Given the description of an element on the screen output the (x, y) to click on. 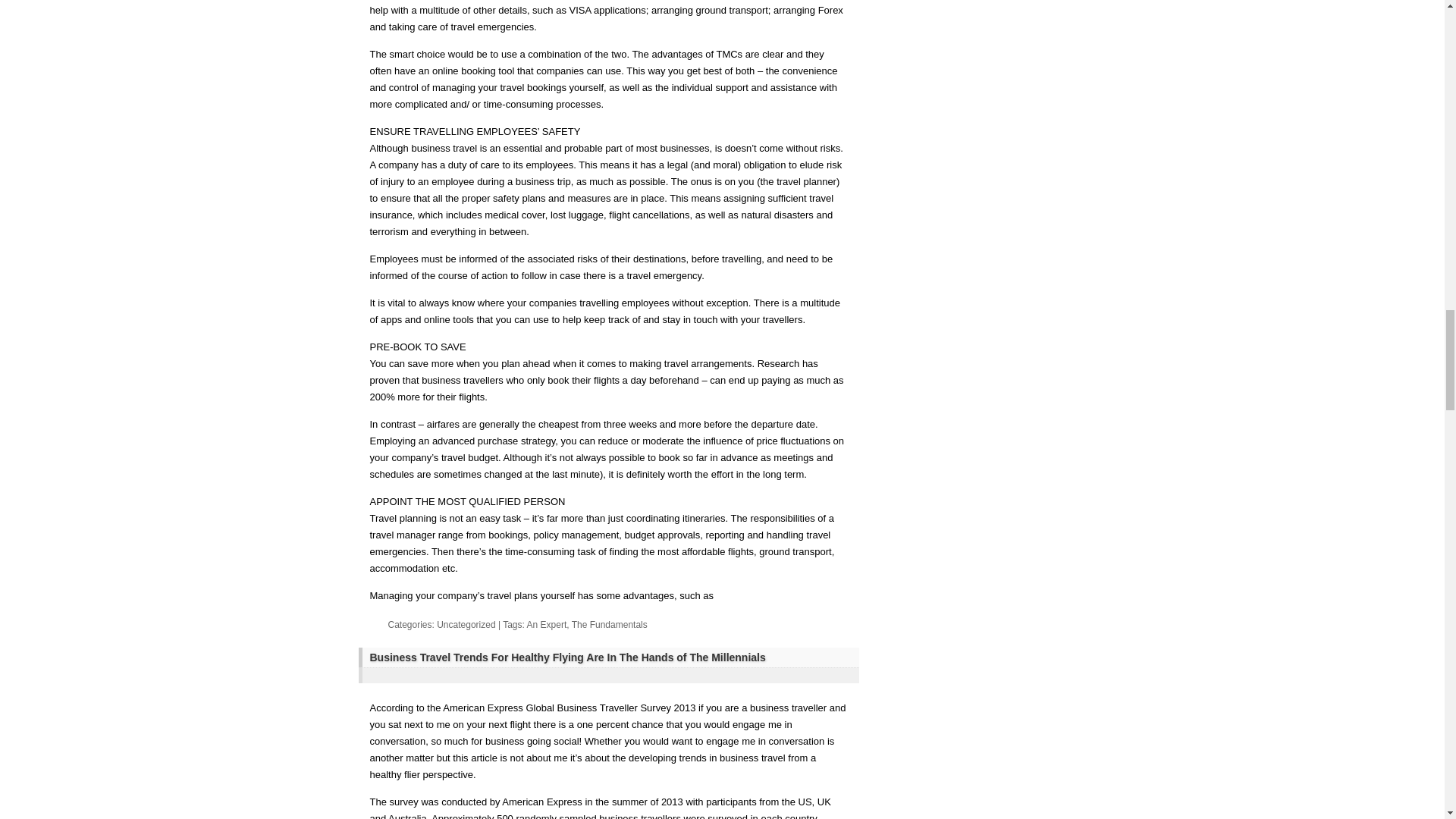
The Fundamentals (609, 624)
View all posts in Uncategorized (465, 624)
Uncategorized (465, 624)
An Expert (547, 624)
